Given the description of an element on the screen output the (x, y) to click on. 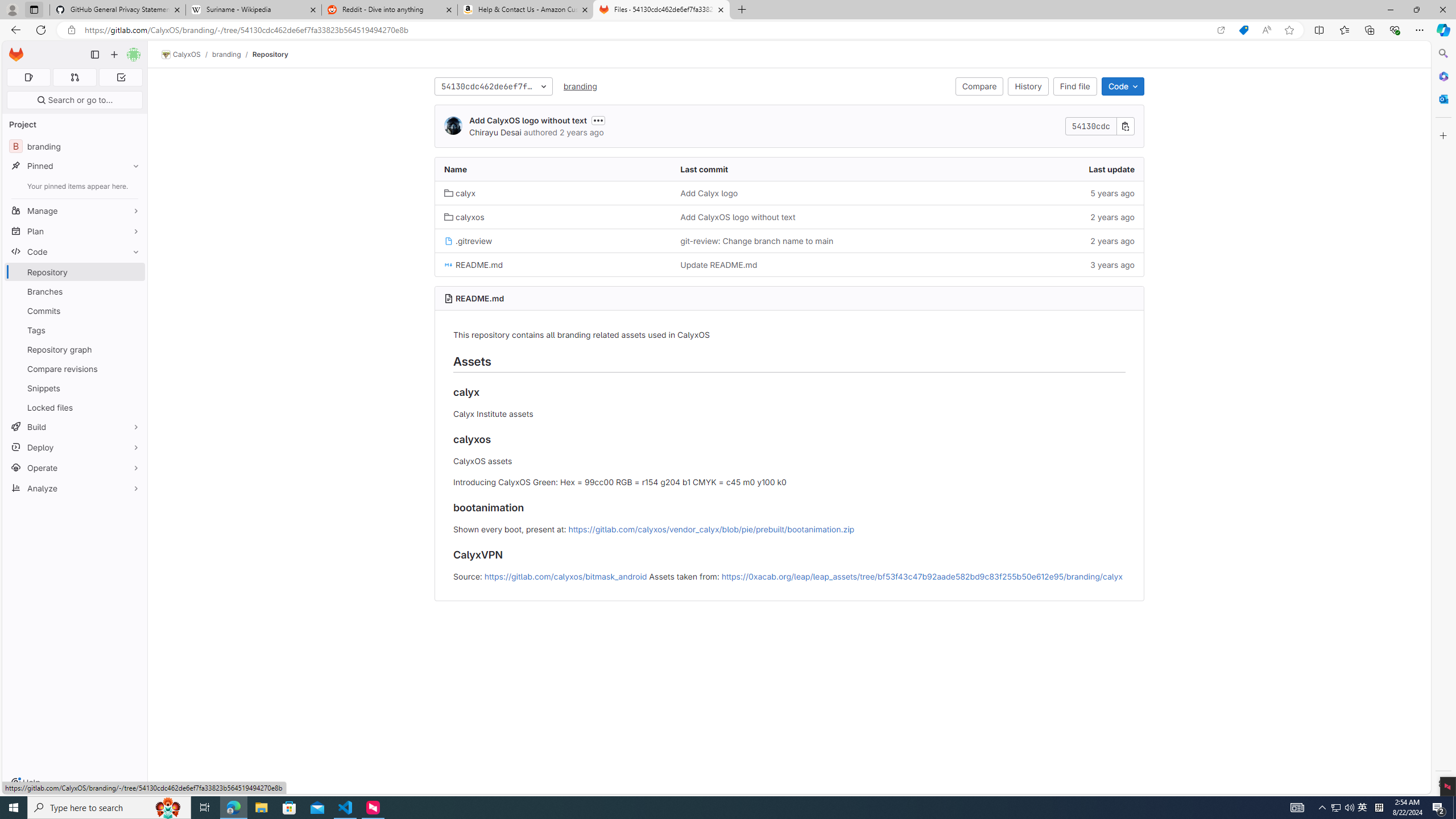
branding/ (231, 53)
Repository graph (74, 348)
Open in app (1220, 29)
Commits (74, 310)
Snippets (74, 387)
Update README.md (789, 264)
